Given the description of an element on the screen output the (x, y) to click on. 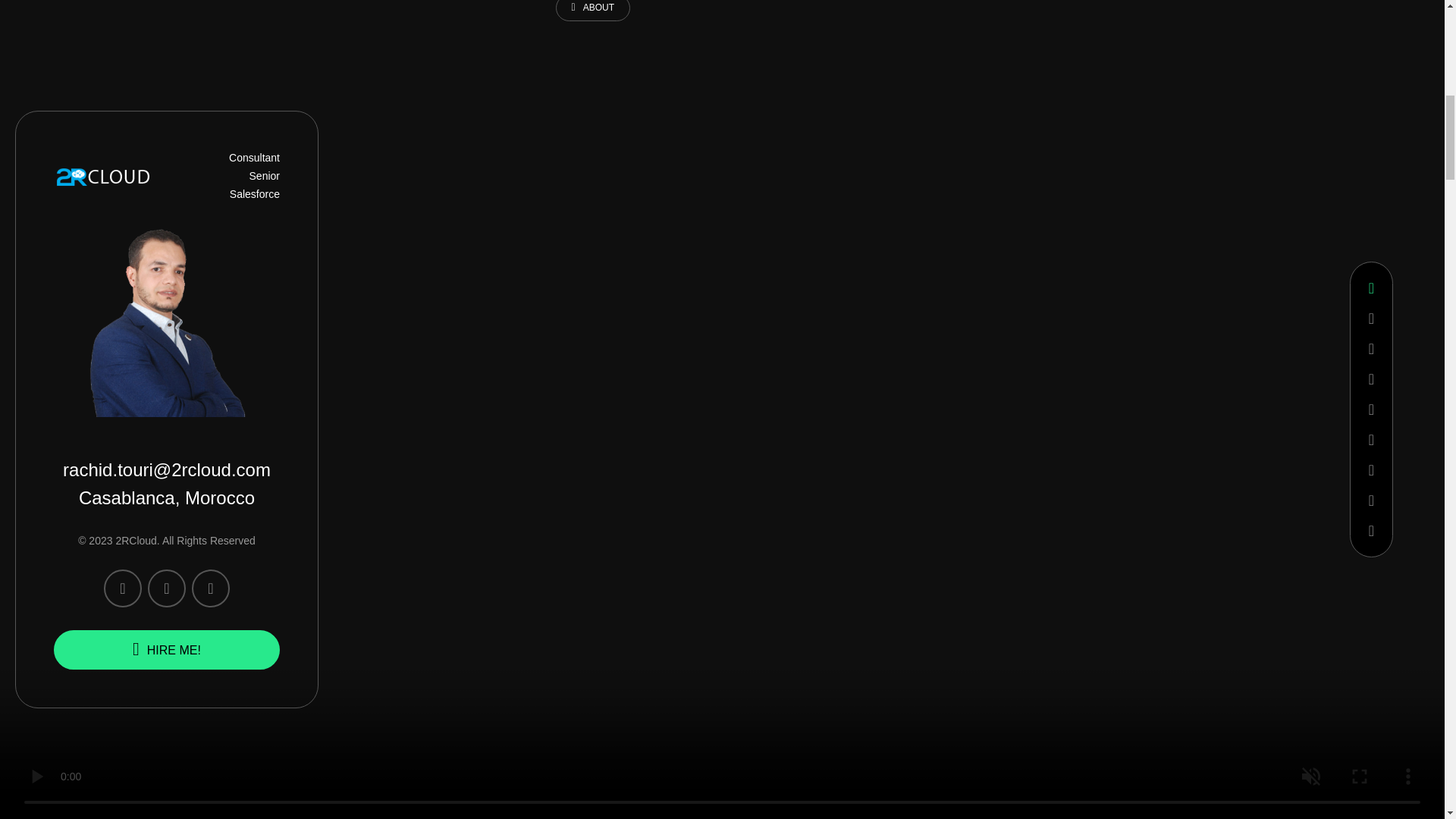
ABOUT (591, 10)
